Given the description of an element on the screen output the (x, y) to click on. 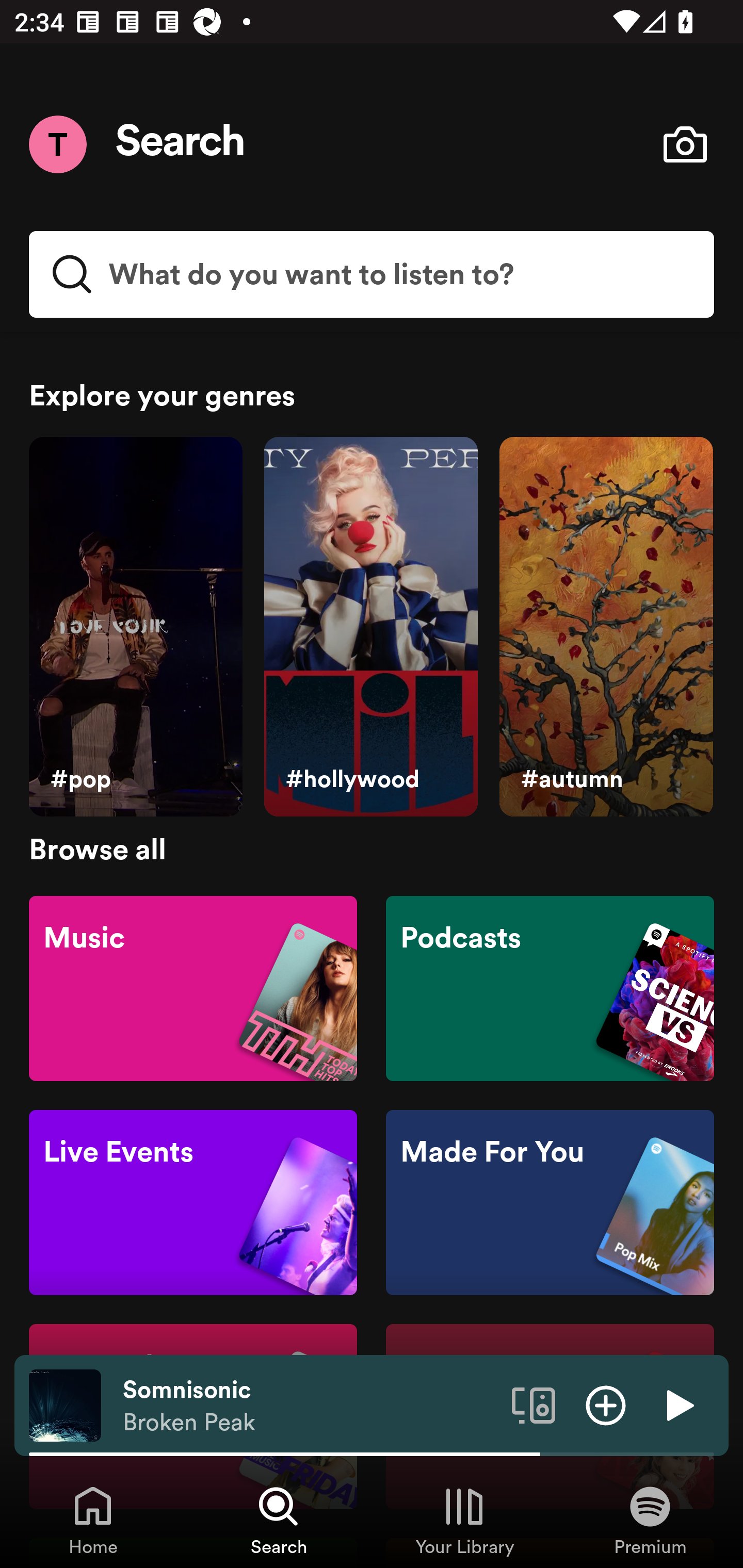
Menu (57, 144)
Open camera (685, 145)
Search (180, 144)
#pop (135, 626)
#hollywood (370, 626)
#autumn (606, 626)
Music (192, 987)
Podcasts (549, 987)
Live Events (192, 1202)
Made For You (549, 1202)
Somnisonic Broken Peak (309, 1405)
The cover art of the currently playing track (64, 1404)
Connect to a device. Opens the devices menu (533, 1404)
Add item (605, 1404)
Play (677, 1404)
Home, Tab 1 of 4 Home Home (92, 1519)
Search, Tab 2 of 4 Search Search (278, 1519)
Your Library, Tab 3 of 4 Your Library Your Library (464, 1519)
Premium, Tab 4 of 4 Premium Premium (650, 1519)
